Given the description of an element on the screen output the (x, y) to click on. 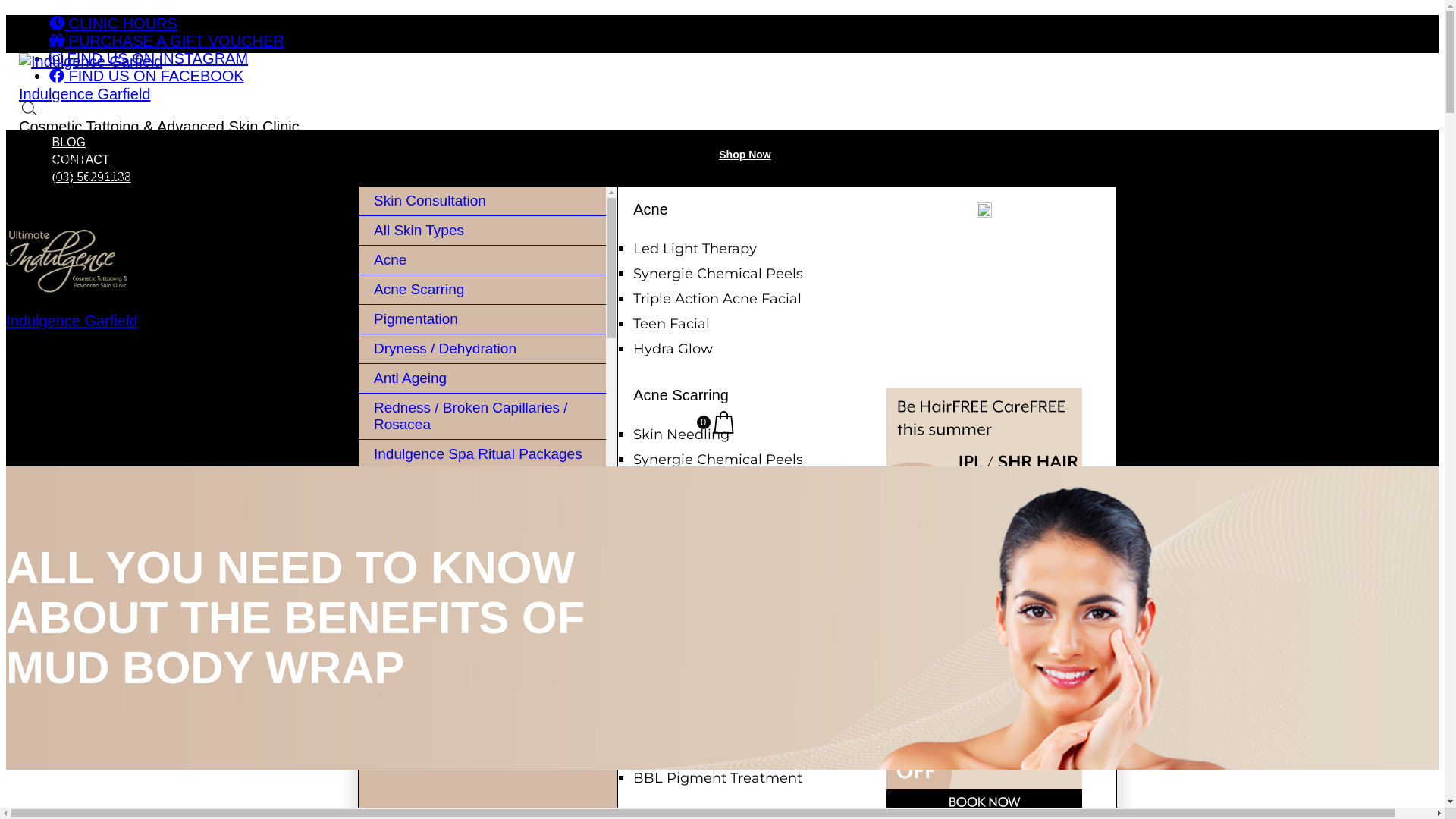
Hydra Glow Element type: text (672, 348)
Spray Tanning Element type: text (481, 631)
Redness / Broken Capillaries / Rosacea Element type: text (481, 416)
BLOG Element type: text (67, 141)
(03) 56291138 Element type: text (90, 176)
Synergie Chemical Peels Element type: text (718, 459)
LED Packages Element type: text (481, 513)
PURCHASE A GIFT VOUCHER Element type: text (166, 40)
Triple Action Acne Facial Element type: text (717, 298)
Skin Needling Element type: text (681, 434)
Tetra Peel Element type: text (666, 752)
Skin Consultation Element type: text (481, 201)
Waxing Element type: text (481, 602)
Lash Lift Element type: text (481, 691)
Anti Ageing Element type: text (481, 378)
Teen Facial Element type: text (671, 323)
Led Light Therapy Element type: text (694, 248)
Teeth Whitening Element type: text (481, 779)
Acne Element type: text (650, 208)
Indulgence Garfield Element type: text (84, 93)
HOME Element type: text (67, 159)
Electrolysis & Diathermy Element type: text (481, 572)
Indulgence Spa Ritual Packages Element type: text (481, 454)
IPL / SHR Hair Removal Element type: text (481, 483)
OUR TREATMENTS Element type: text (104, 177)
Acne Scarring Element type: text (481, 289)
Indulgence Garfield Element type: text (71, 320)
Vitamin Infusion Facial Element type: text (711, 702)
Pigmentation Element type: text (481, 319)
Cosmetic Tattooing Element type: text (481, 720)
CONTACT Element type: text (80, 159)
Synergie Chemical Peels Element type: text (718, 273)
LED + Massage Chair Packages Element type: text (481, 543)
Dryness / Dehydration Element type: text (481, 349)
Cosmetic Wrinkle Injectables Element type: text (481, 750)
Tinting Element type: text (481, 661)
CLINIC HOURS Element type: text (113, 23)
FIND US ON INSTAGRAM Element type: text (148, 58)
BBL Pigment Treatment Element type: text (717, 777)
Acne Element type: text (481, 260)
Acne Scarring Element type: text (680, 394)
FIND US ON FACEBOOK Element type: text (146, 75)
Pigmentation Element type: text (677, 663)
All Skin Types Element type: text (481, 230)
Synergie Peels Element type: text (683, 727)
